Given the description of an element on the screen output the (x, y) to click on. 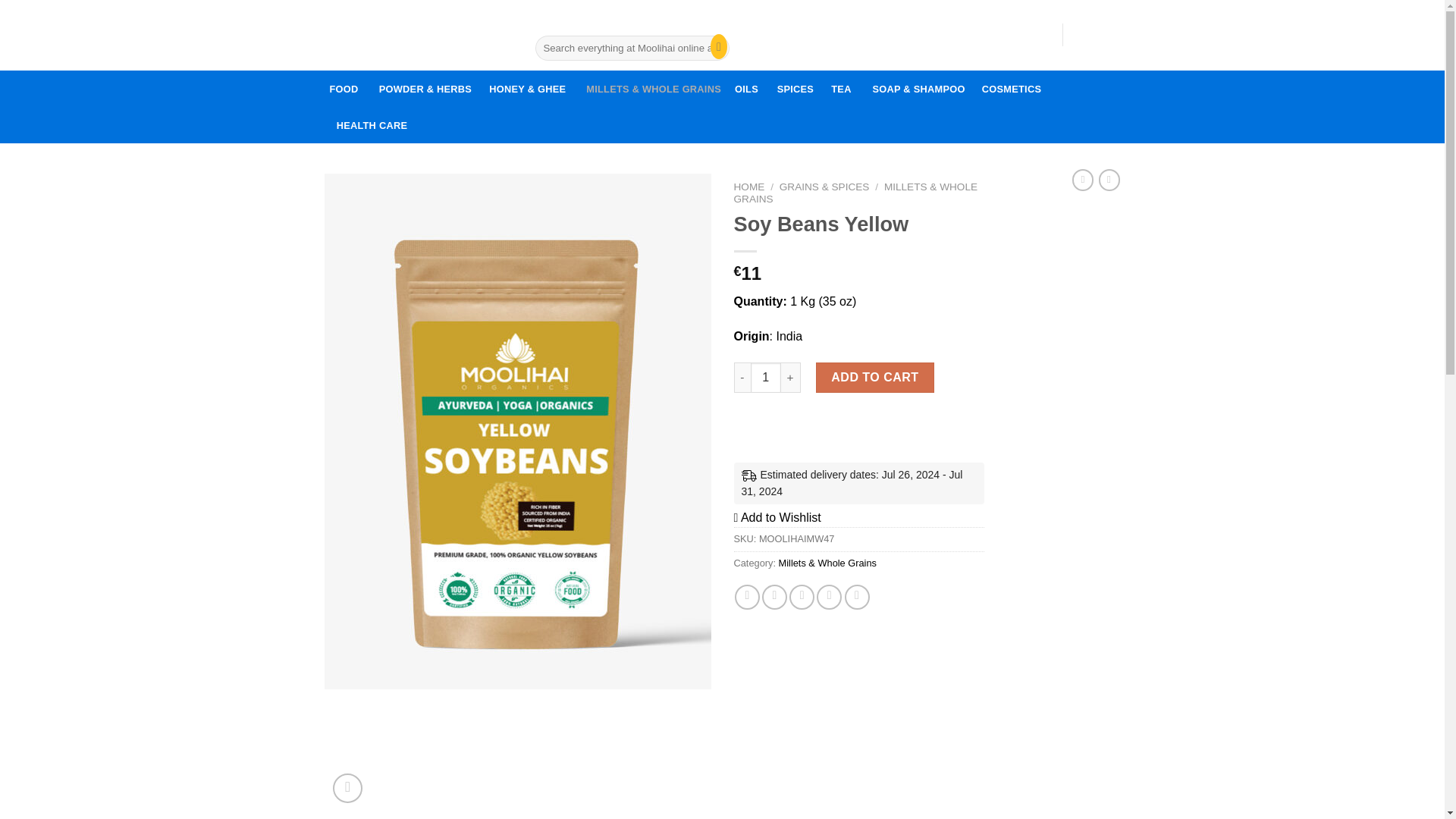
HOME (749, 186)
COSMETICS (1010, 88)
Share on Facebook (747, 596)
Zoom (347, 788)
Share on LinkedIn (856, 596)
WISHLIST (896, 34)
Email to a Friend (561, 22)
HEALTH CARE (801, 596)
TRACK ORDER (371, 125)
OILS (664, 22)
PayPal (745, 88)
Share on Twitter (832, 427)
Add to Wishlist (774, 596)
FOOD (777, 517)
